Given the description of an element on the screen output the (x, y) to click on. 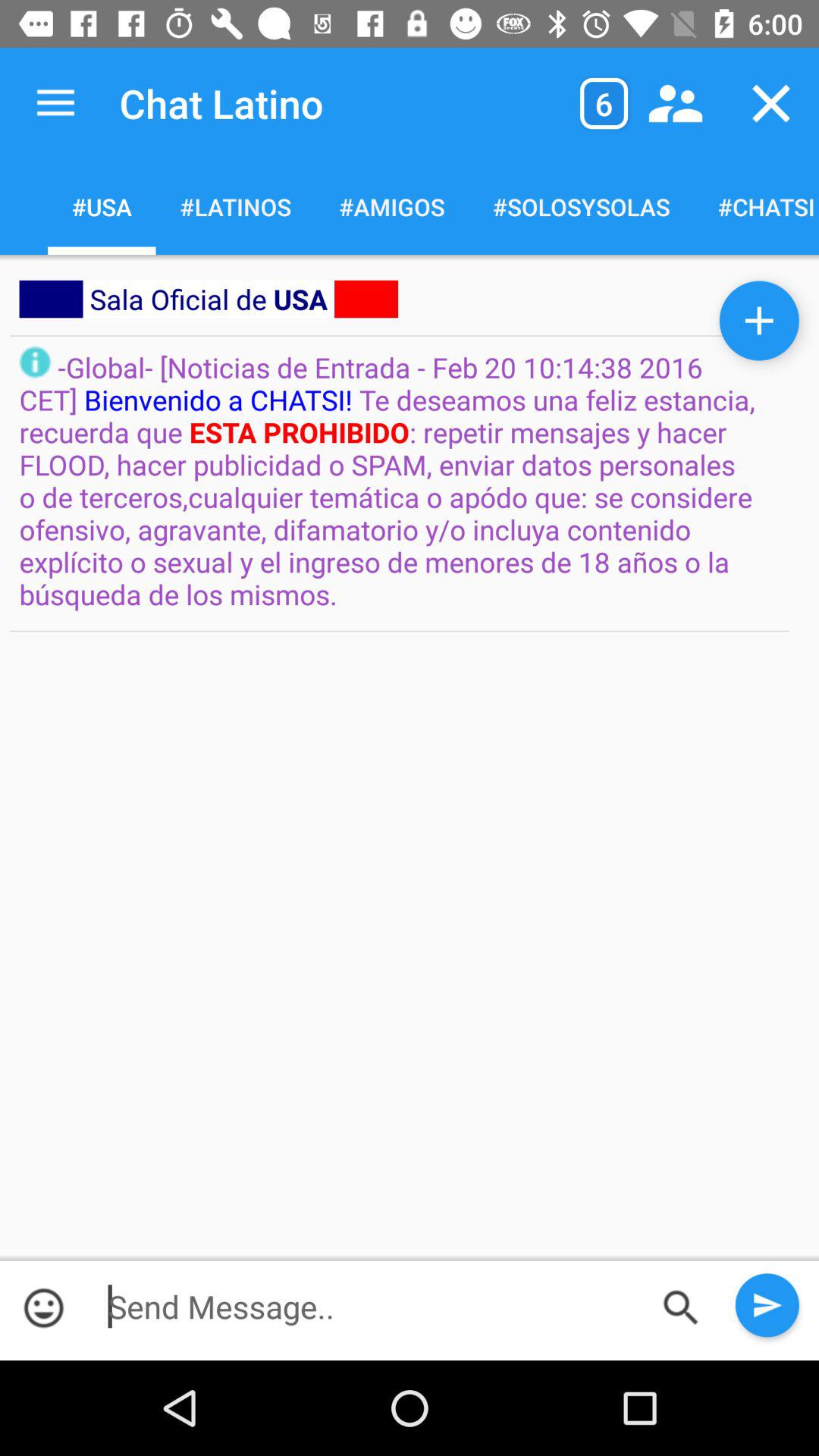
press the icon to the right of 6 item (675, 103)
